Given the description of an element on the screen output the (x, y) to click on. 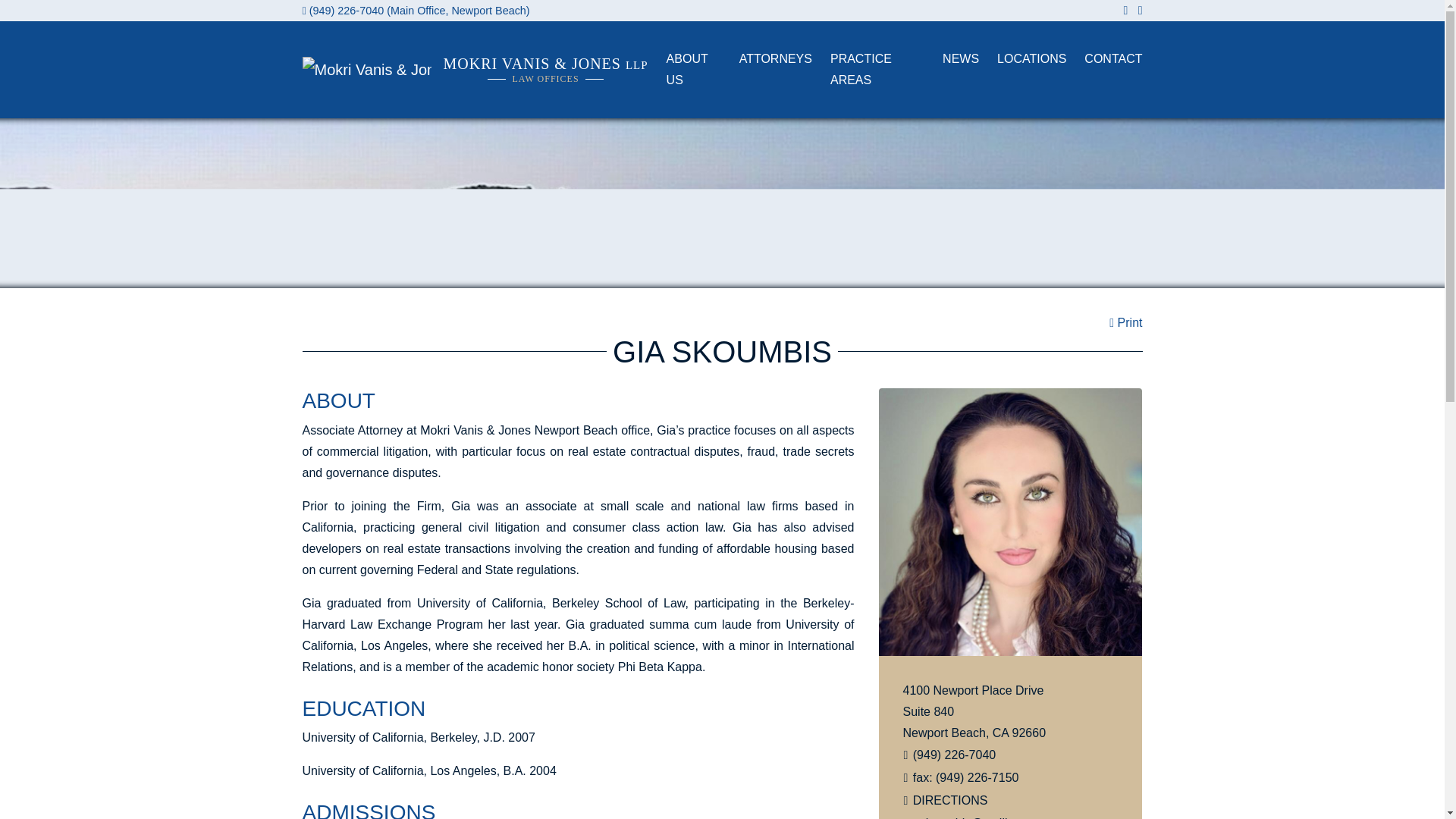
ATTORNEYS (766, 59)
NEWS (951, 59)
News (951, 59)
Practice Areas (868, 69)
ABOUT US (683, 69)
PRACTICE AREAS (868, 69)
Attorneys (766, 59)
CONTACT (1103, 59)
LOCATIONS (1021, 59)
Contact (1103, 59)
Print (1125, 322)
About Us (683, 69)
Locations (1021, 59)
DIRECTIONS (950, 799)
